Given the description of an element on the screen output the (x, y) to click on. 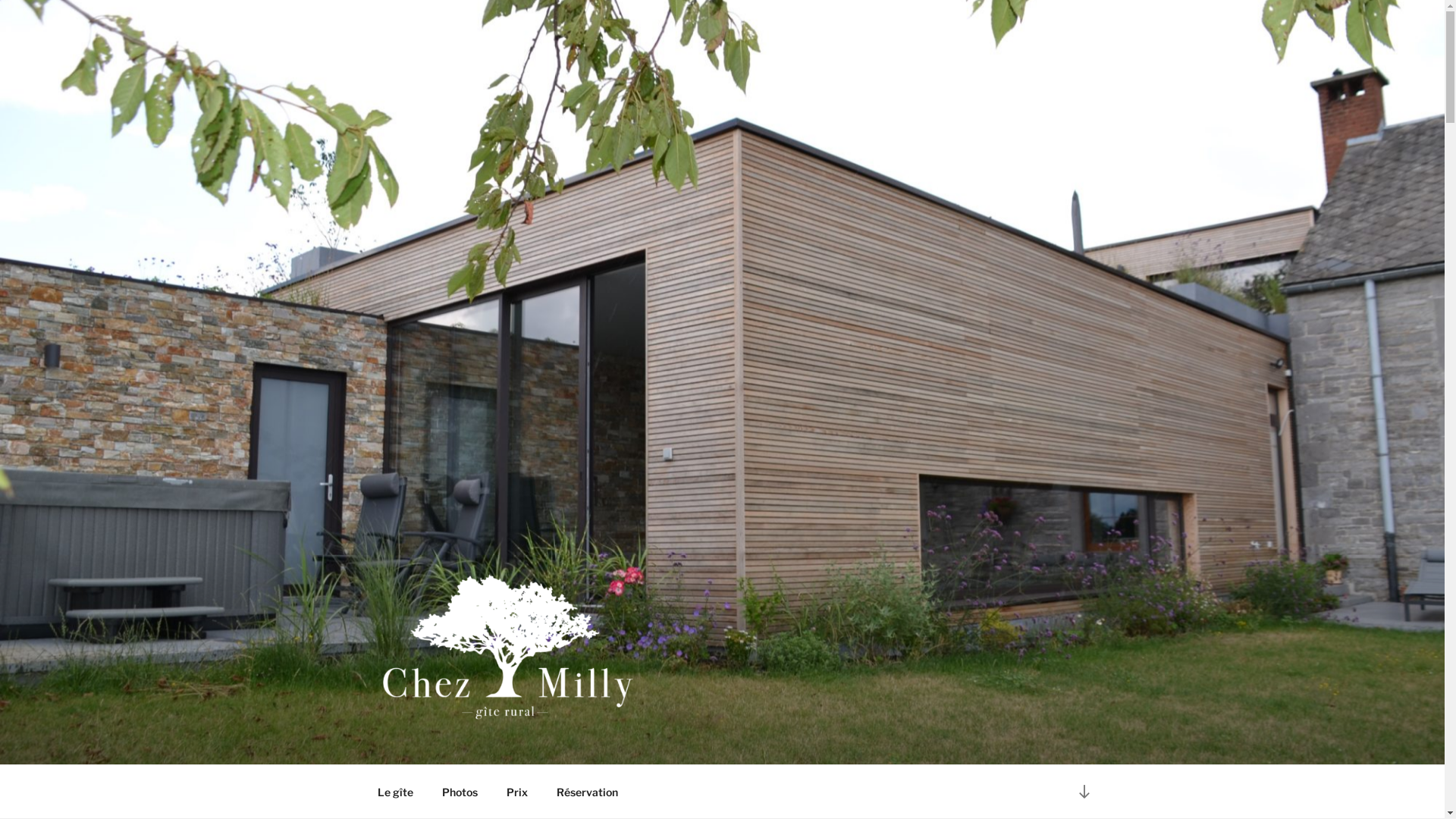
Prix Element type: text (516, 791)
Photos Element type: text (460, 791)
CHEZ MILLY Element type: text (475, 744)
